Given the description of an element on the screen output the (x, y) to click on. 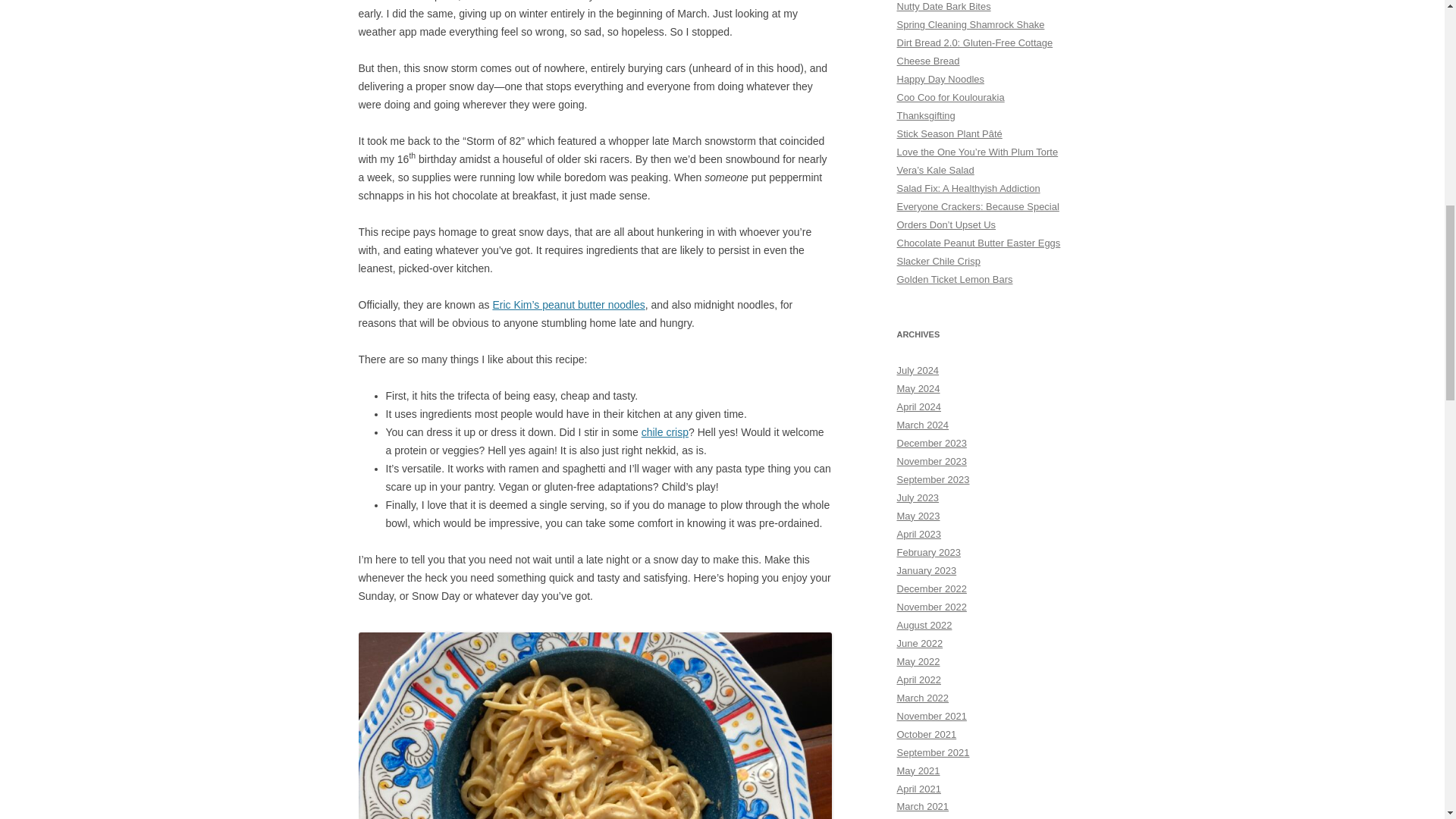
chile crisp (665, 431)
